Given the description of an element on the screen output the (x, y) to click on. 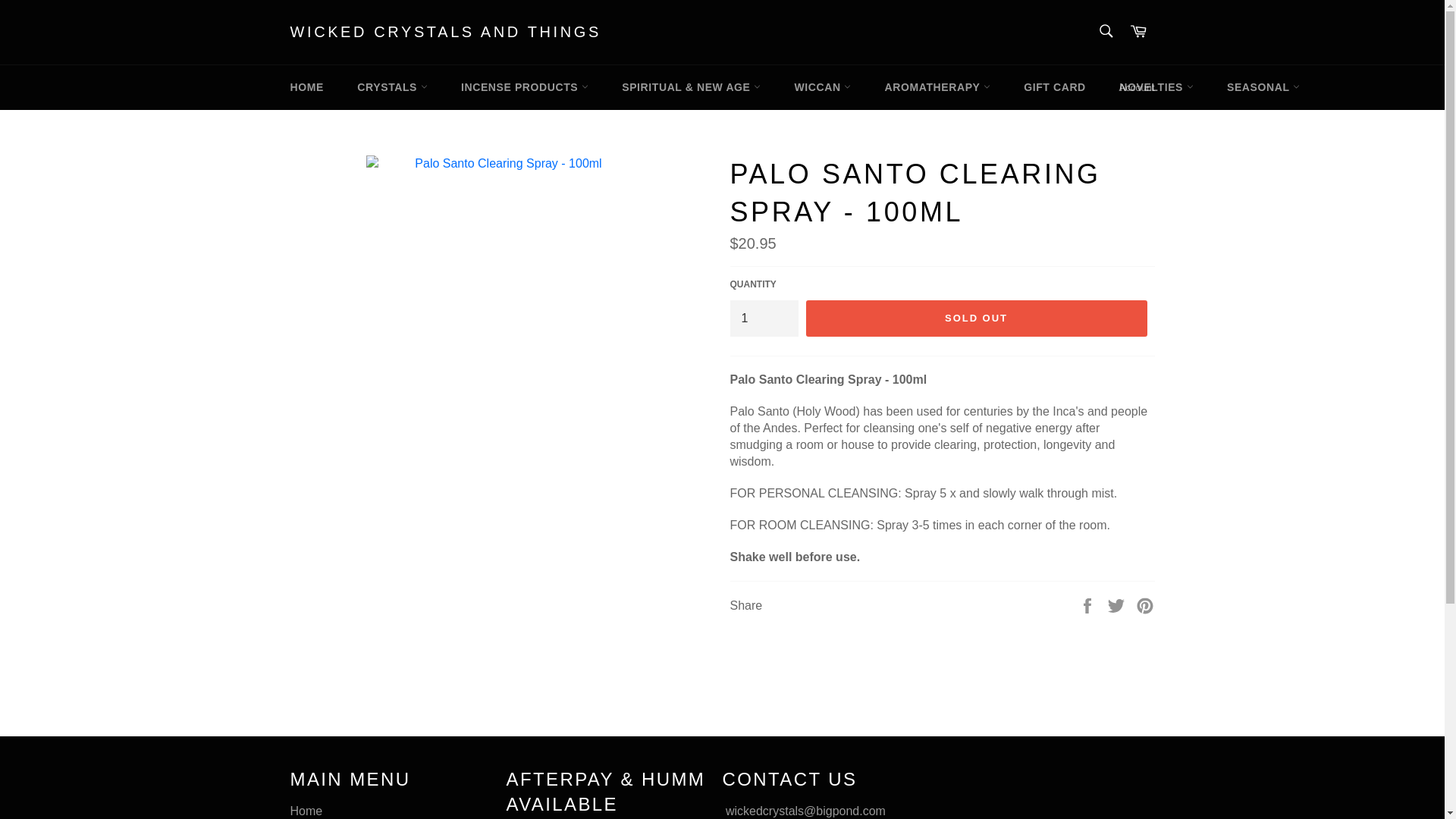
Share on Facebook (1088, 604)
Pin on Pinterest (1144, 604)
Tweet on Twitter (1117, 604)
1 (763, 318)
